Given the description of an element on the screen output the (x, y) to click on. 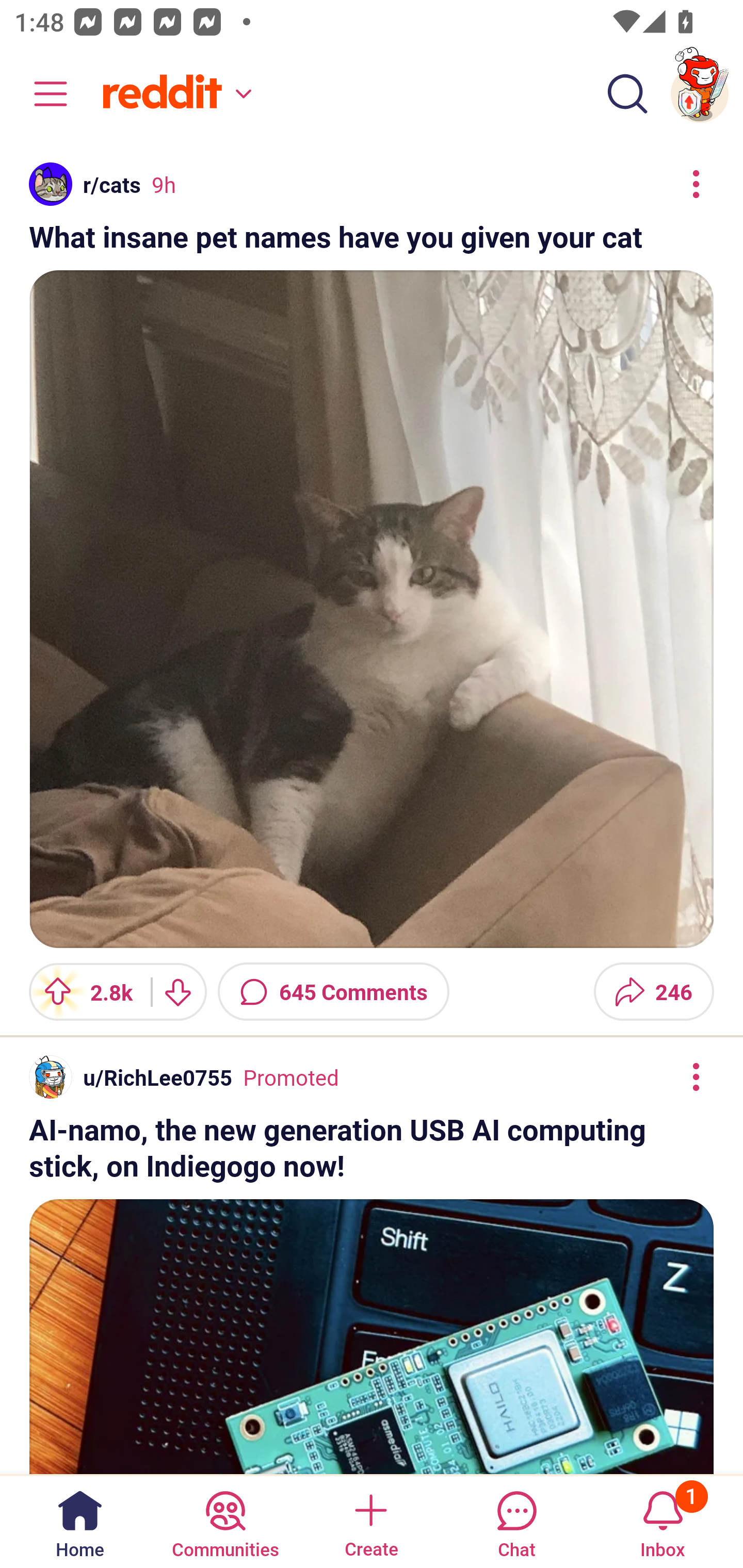
Search (626, 93)
TestAppium002 account (699, 93)
Community menu (41, 94)
Home feed (173, 94)
Home (80, 1520)
Communities (225, 1520)
Create a post Create (370, 1520)
Chat (516, 1520)
Inbox, has 1 notification 1 Inbox (662, 1520)
